Given the description of an element on the screen output the (x, y) to click on. 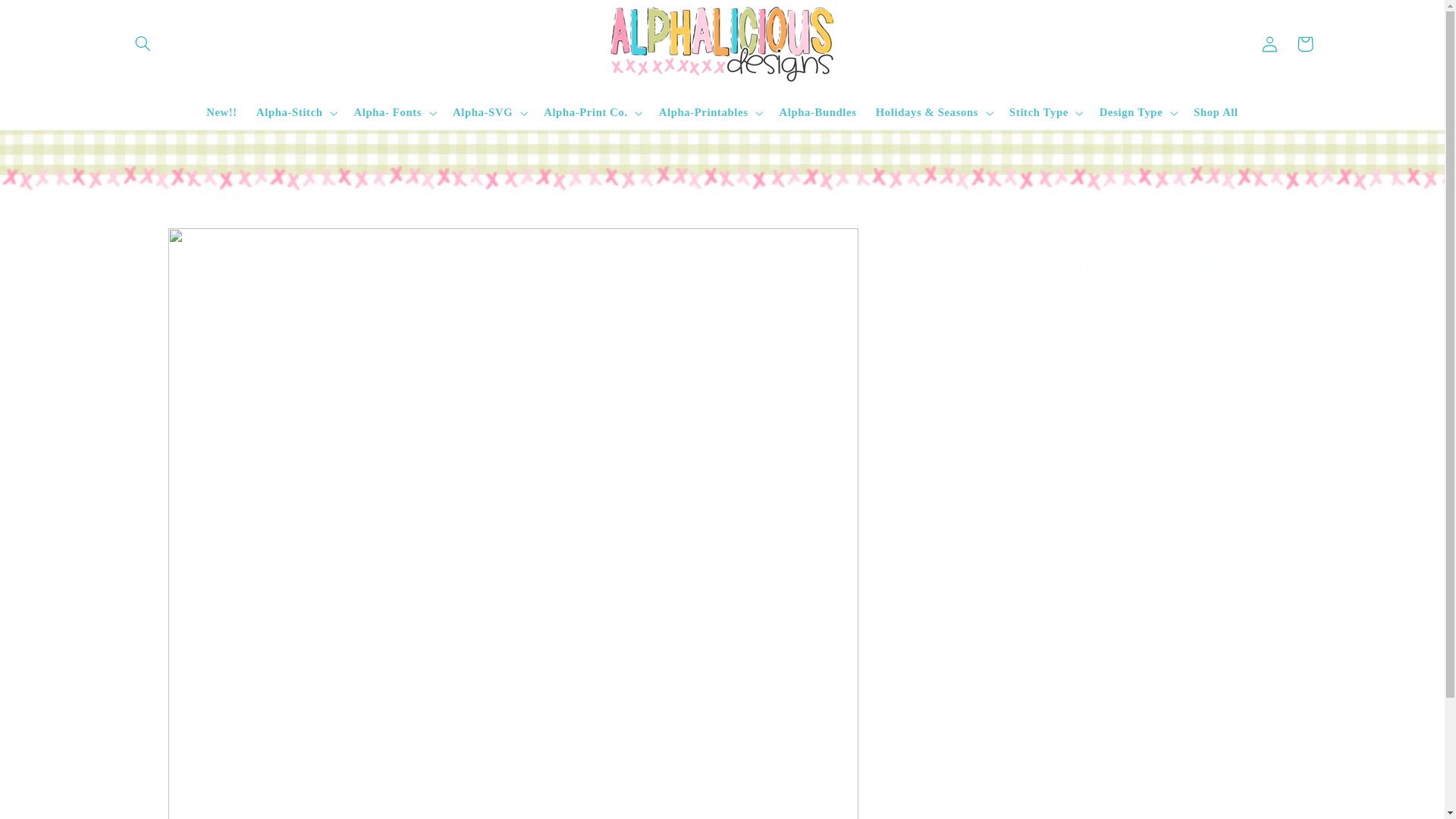
Skip to content (48, 18)
